Given the description of an element on the screen output the (x, y) to click on. 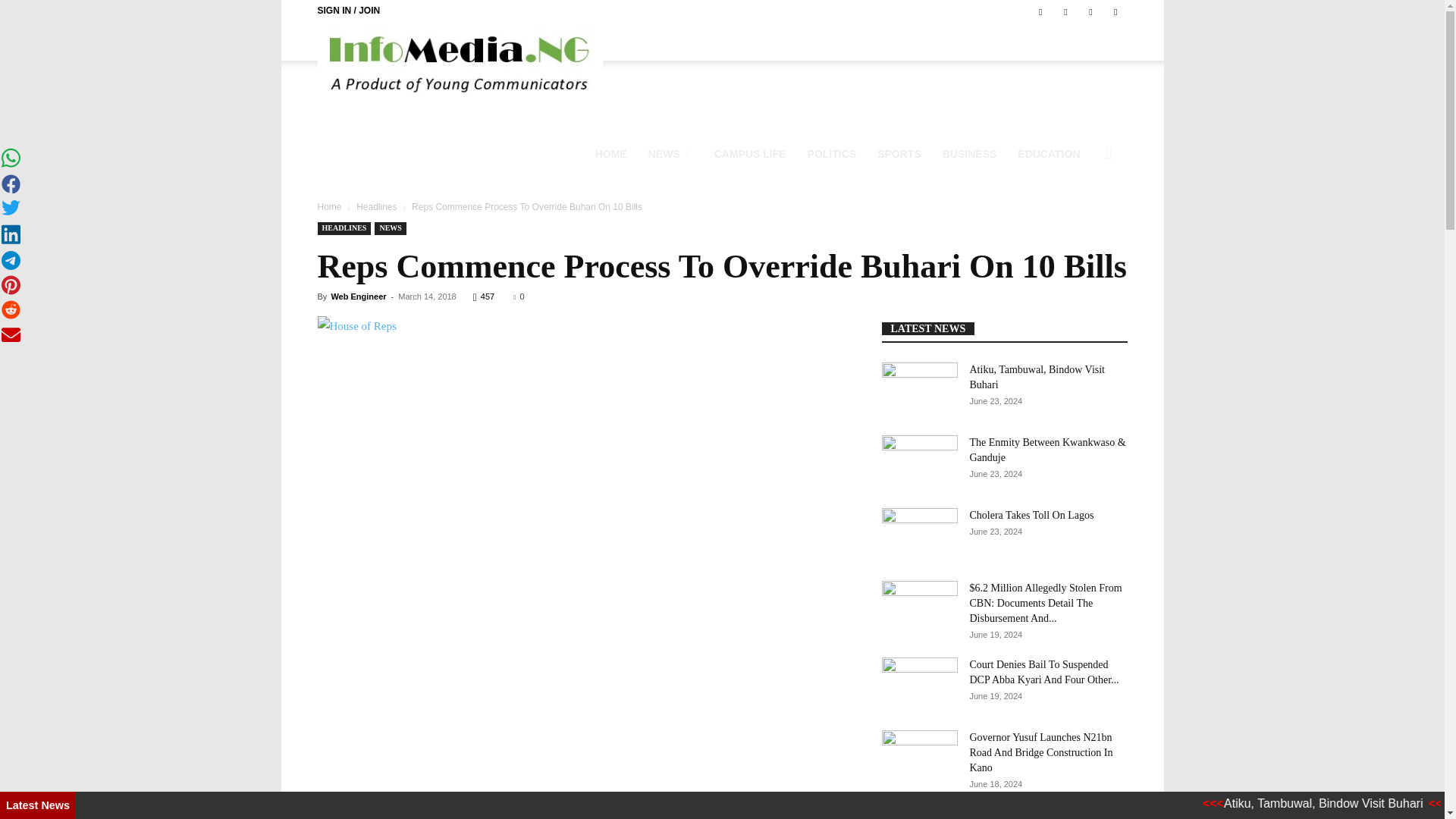
Facebook (1040, 11)
SPORTS (898, 153)
View all posts in Headlines (376, 206)
Infomedia Nigeria News (459, 62)
HOME (611, 153)
Youtube (1114, 11)
VKontakte (1090, 11)
POLITICS (831, 153)
Twitter (1065, 11)
NEWS (670, 153)
Search (1080, 225)
CAMPUS LIFE (749, 153)
